Given the description of an element on the screen output the (x, y) to click on. 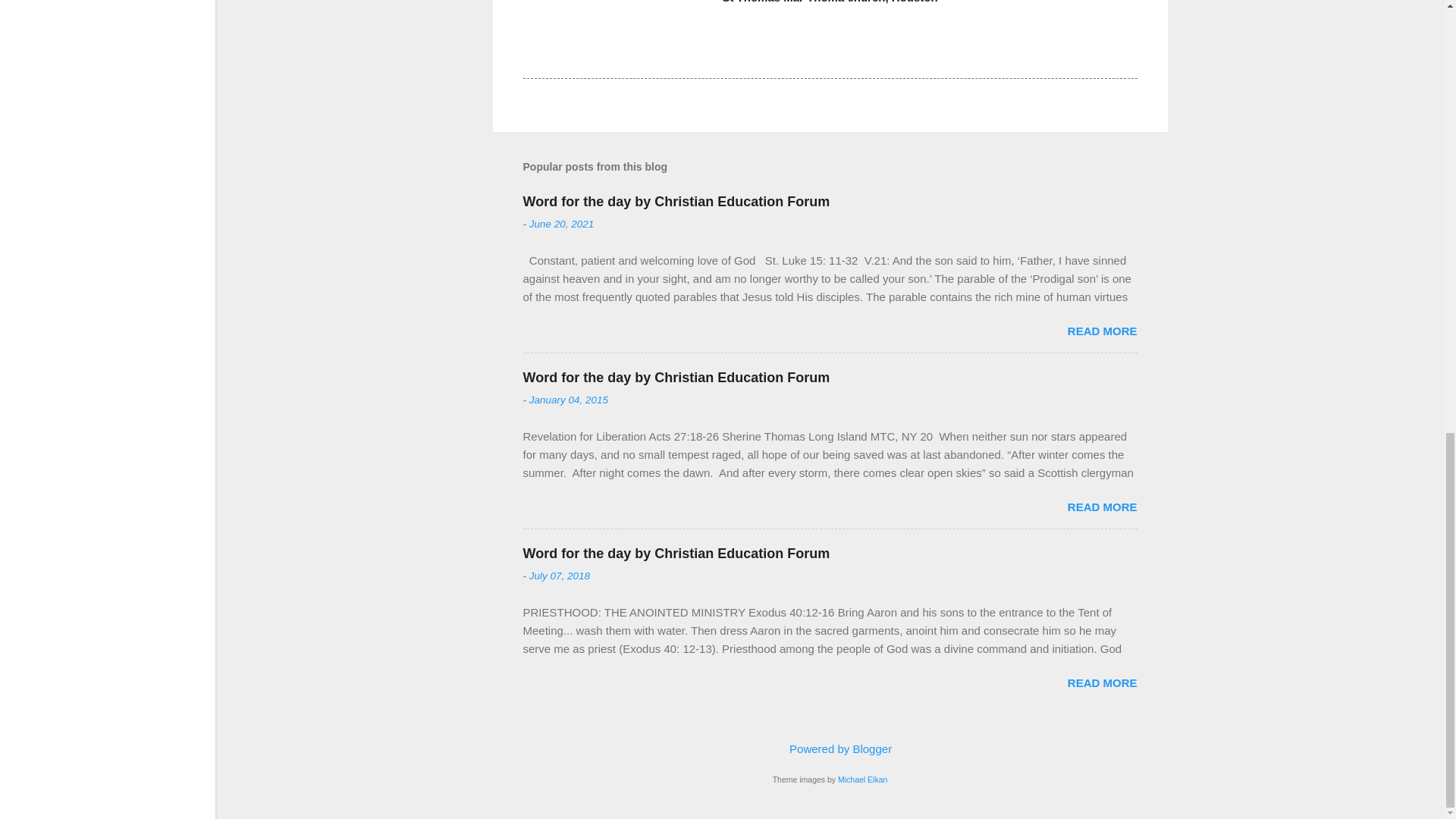
January 04, 2015 (568, 399)
READ MORE (1102, 506)
Word for the day by Christian Education Forum (675, 553)
July 07, 2018 (559, 575)
READ MORE (1102, 682)
Powered by Blogger (829, 748)
Word for the day by Christian Education Forum (675, 377)
permanent link (561, 224)
READ MORE (1102, 330)
Michael Elkan (862, 778)
Word for the day by Christian Education Forum (675, 201)
June 20, 2021 (561, 224)
